Given the description of an element on the screen output the (x, y) to click on. 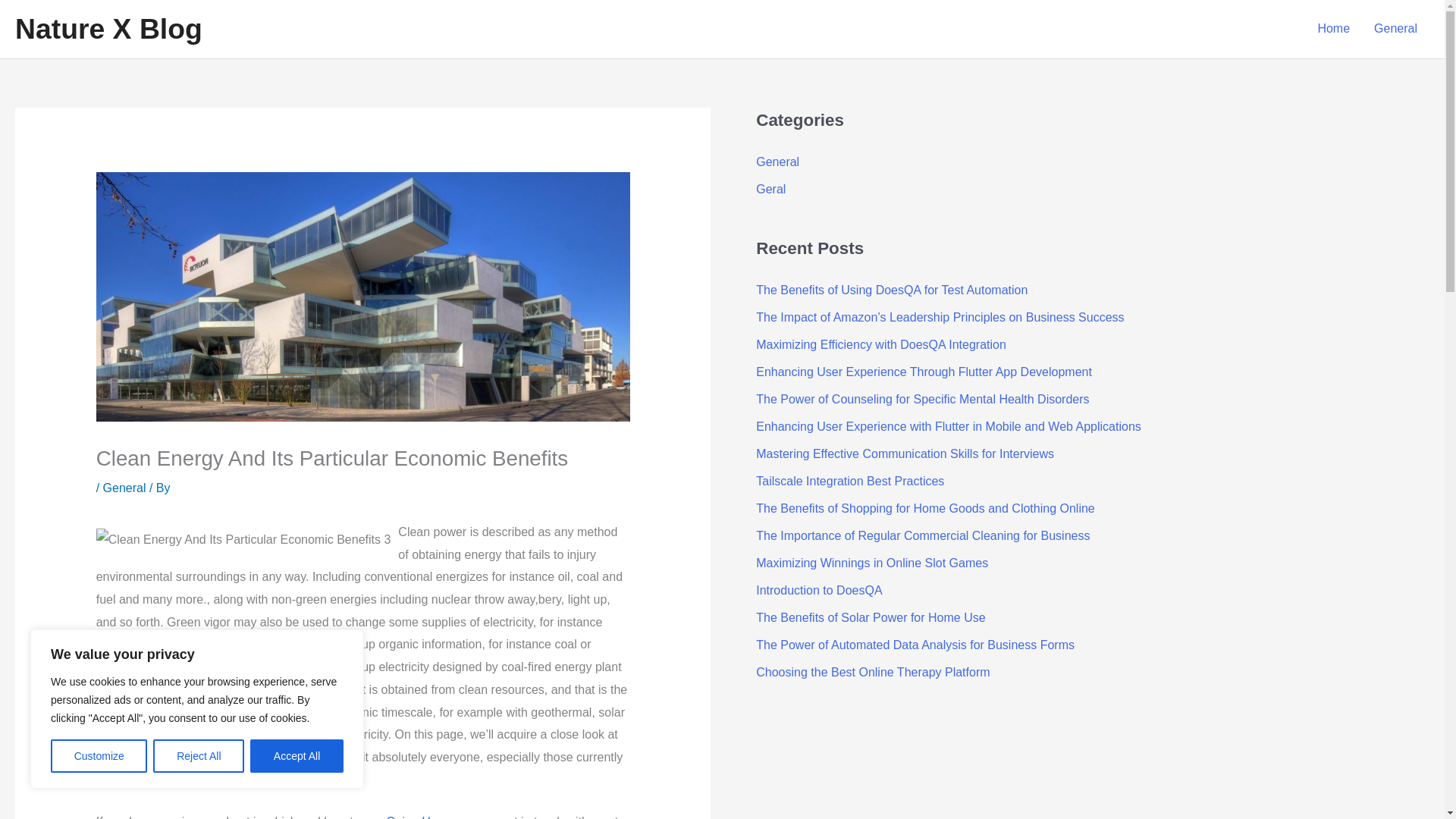
General (125, 487)
Nature X Blog (108, 29)
General (777, 161)
The Power of Counseling for Specific Mental Health Disorders (922, 399)
Geral (770, 188)
Reject All (198, 756)
General (1395, 28)
Customize (98, 756)
Accept All (296, 756)
Maximizing Efficiency with DoesQA Integration (880, 344)
